Given the description of an element on the screen output the (x, y) to click on. 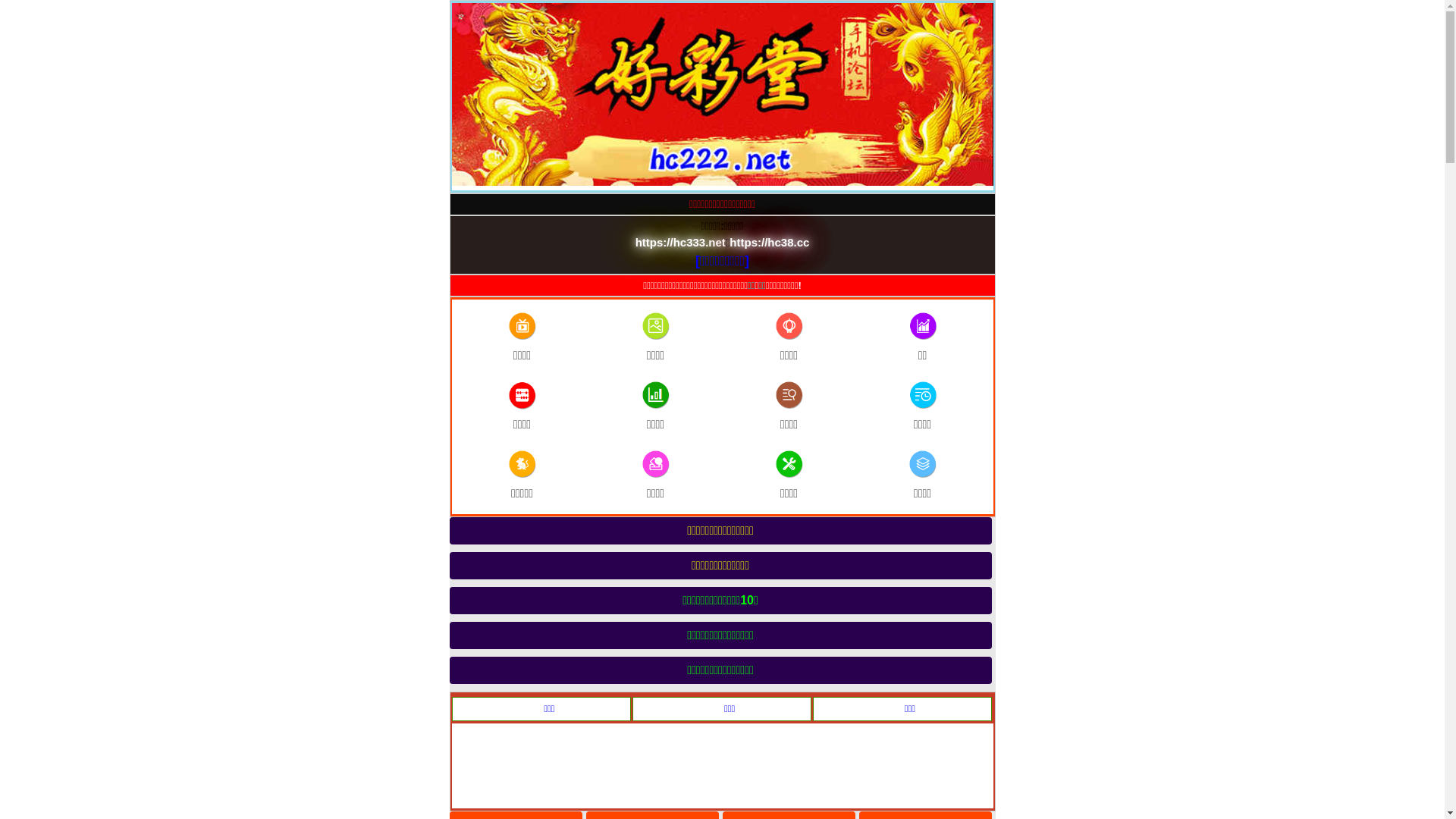
https://hc38.cc Element type: text (769, 241)
https://hc333.net Element type: text (680, 241)
